Given the description of an element on the screen output the (x, y) to click on. 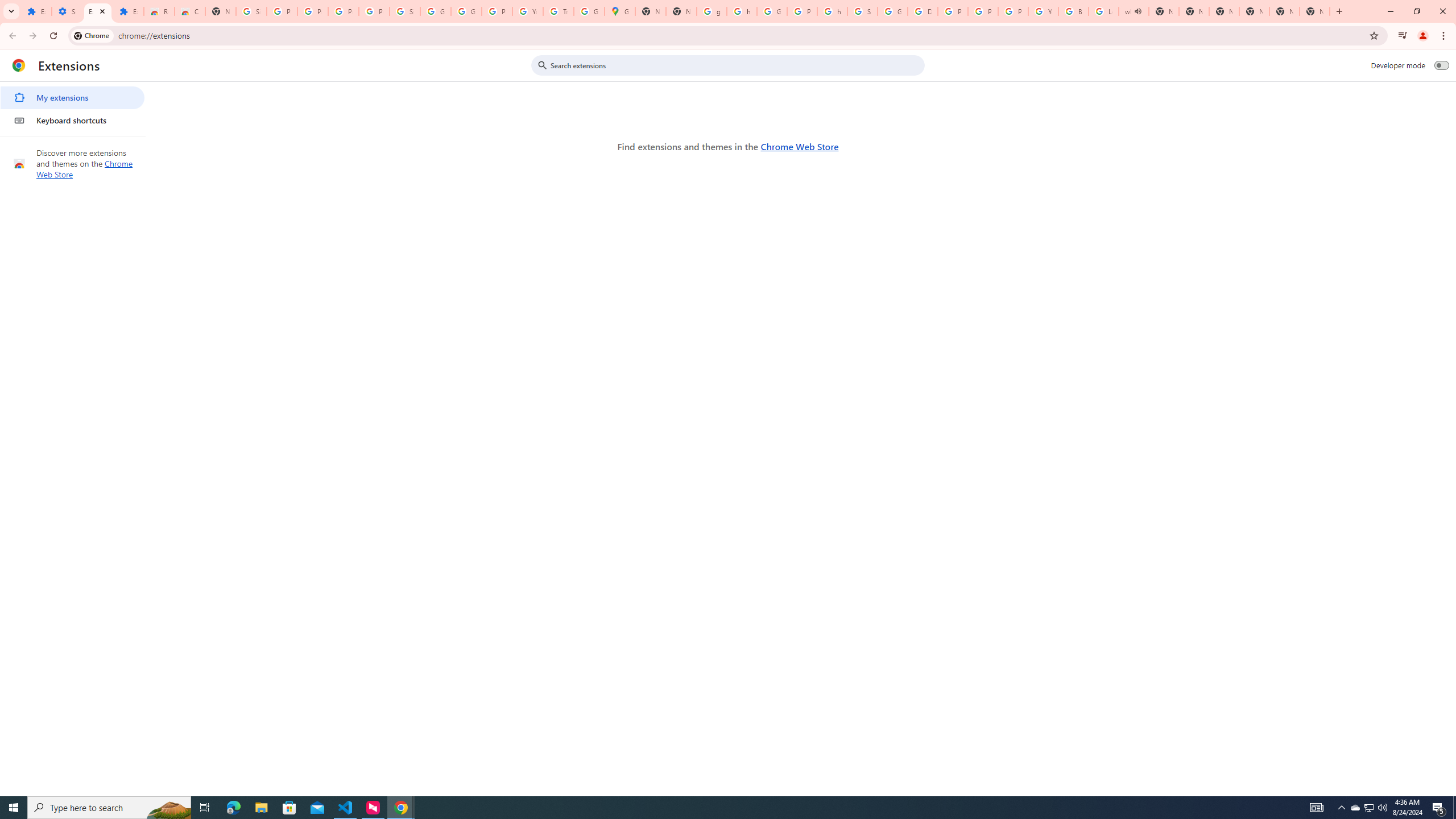
Chrome Web Store (799, 146)
Privacy Help Center - Policies Help (982, 11)
https://scholar.google.com/ (741, 11)
Extensions (97, 11)
My extensions (72, 97)
